Given the description of an element on the screen output the (x, y) to click on. 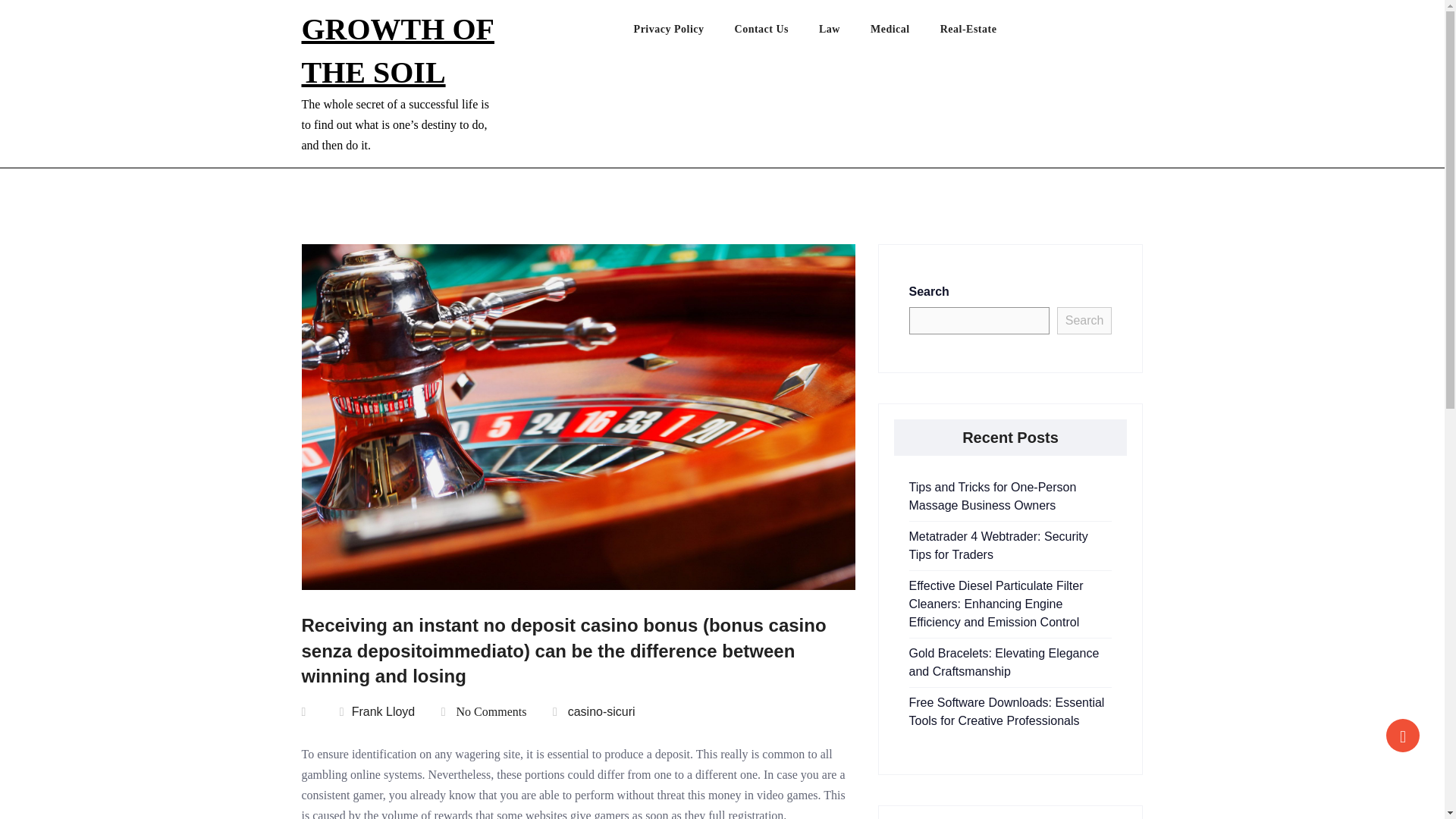
Privacy Policy (684, 32)
Medical (905, 32)
Law (844, 32)
Frank Lloyd (376, 711)
Contact Us (777, 32)
casino-sicuri (600, 711)
Search (1084, 320)
Tips and Tricks for One-Person Massage Business Owners (991, 495)
Metatrader 4 Webtrader: Security Tips for Traders (997, 545)
Real-Estate (983, 32)
GROWTH OF THE SOIL (398, 50)
Gold Bracelets: Elevating Elegance and Craftsmanship (1003, 662)
